Given the description of an element on the screen output the (x, y) to click on. 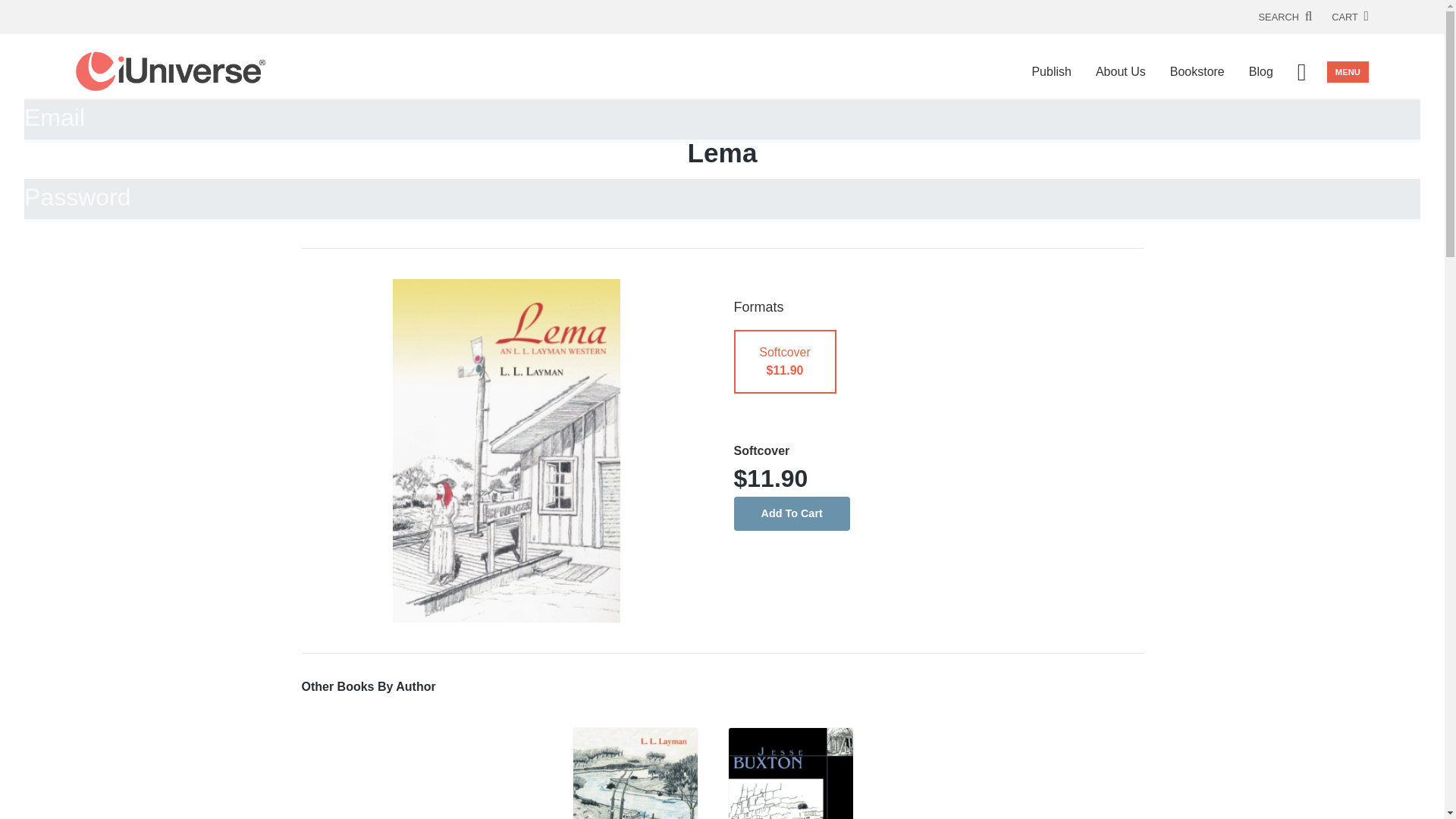
About Us (1120, 71)
Add To Cart (791, 513)
Buck Moline (635, 773)
User Menu (1301, 72)
Publish (1051, 71)
MENU (1347, 71)
Blog (1260, 71)
Jesse Buxton (790, 773)
Bookstore (1196, 71)
SEARCH (1286, 16)
CART (1350, 16)
